Given the description of an element on the screen output the (x, y) to click on. 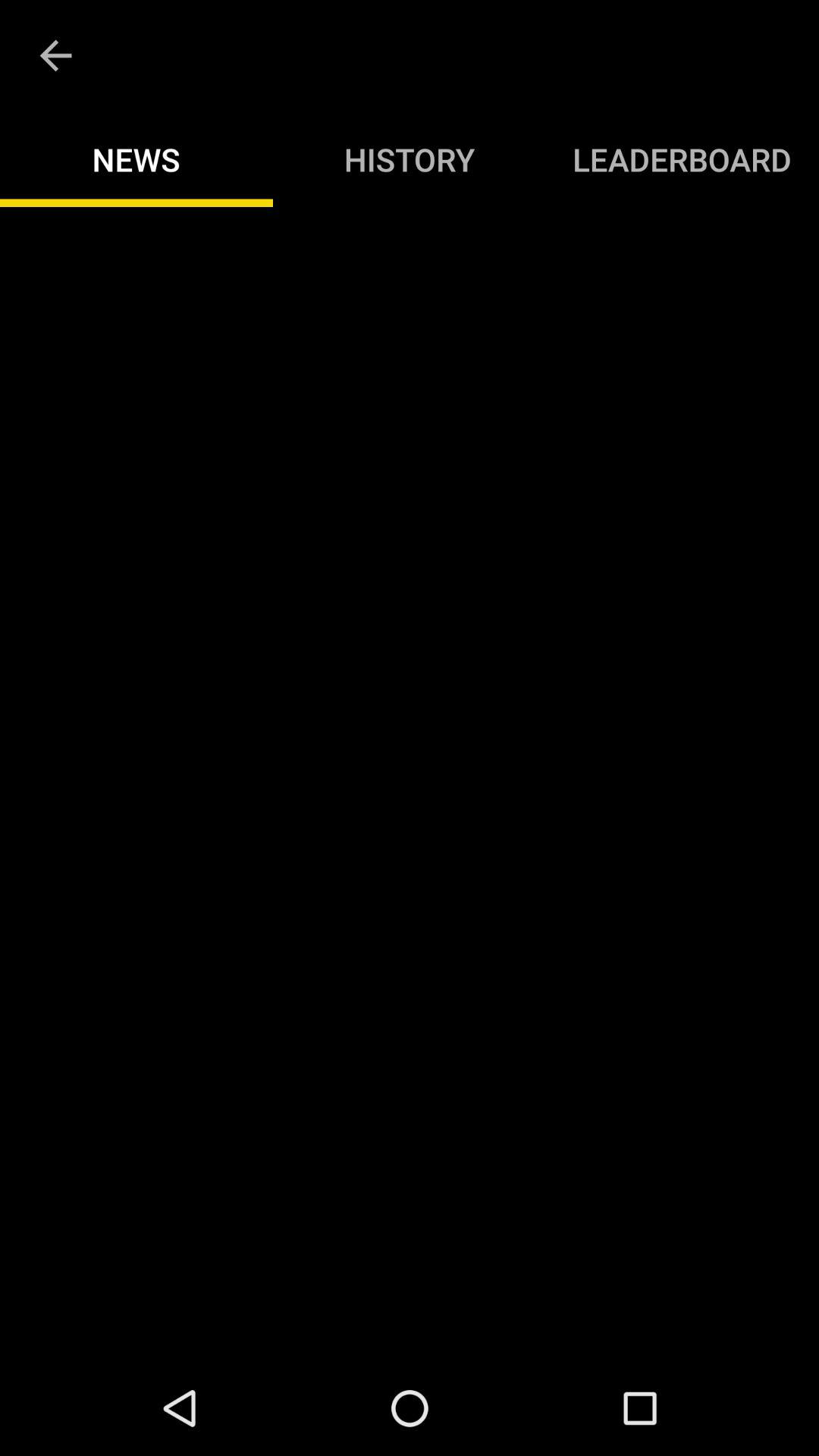
color page (409, 783)
